Given the description of an element on the screen output the (x, y) to click on. 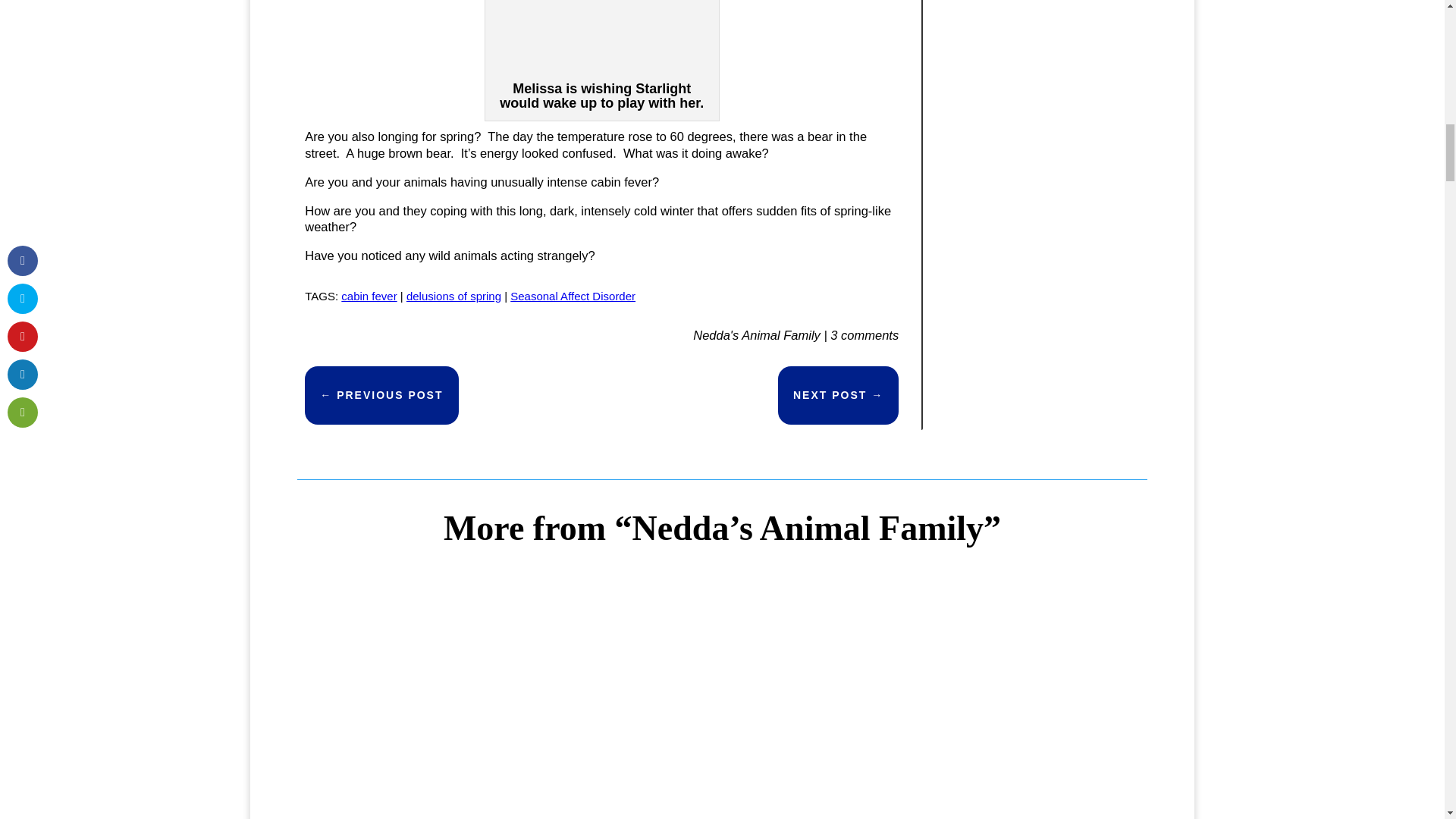
Nedda's Animal Family (757, 335)
delusions of spring (453, 295)
cabin fever (368, 295)
3 comments (863, 335)
Seasonal Affect Disorder (572, 295)
